Given the description of an element on the screen output the (x, y) to click on. 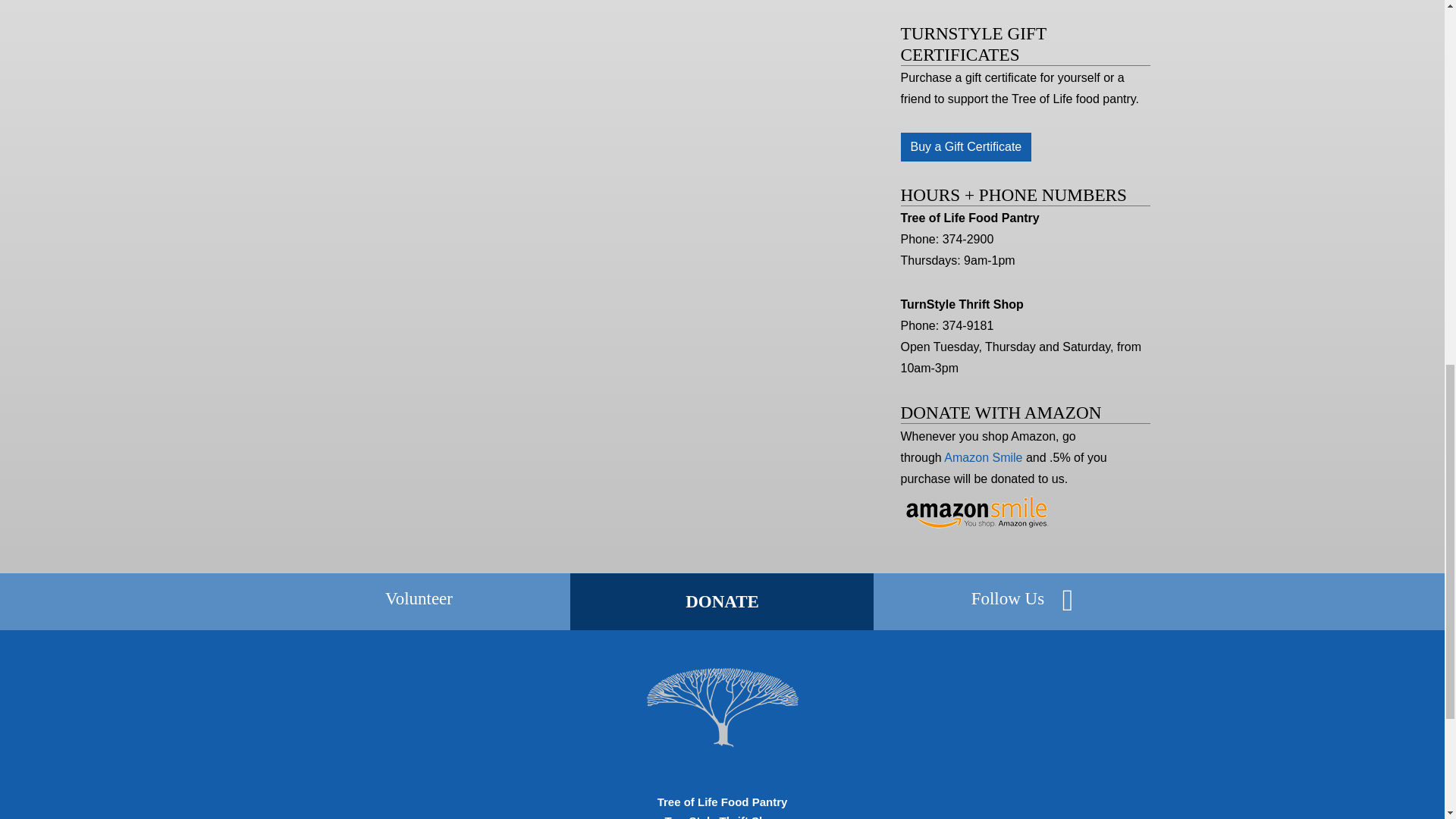
Like us on Facebook (1067, 599)
Like us on Facebook (1008, 598)
Volunteer (418, 598)
Follow Us (1008, 598)
DONATE (721, 601)
Amazon Smile (982, 457)
Volunteer (418, 598)
Buy a Gift Certificate (966, 146)
